Given the description of an element on the screen output the (x, y) to click on. 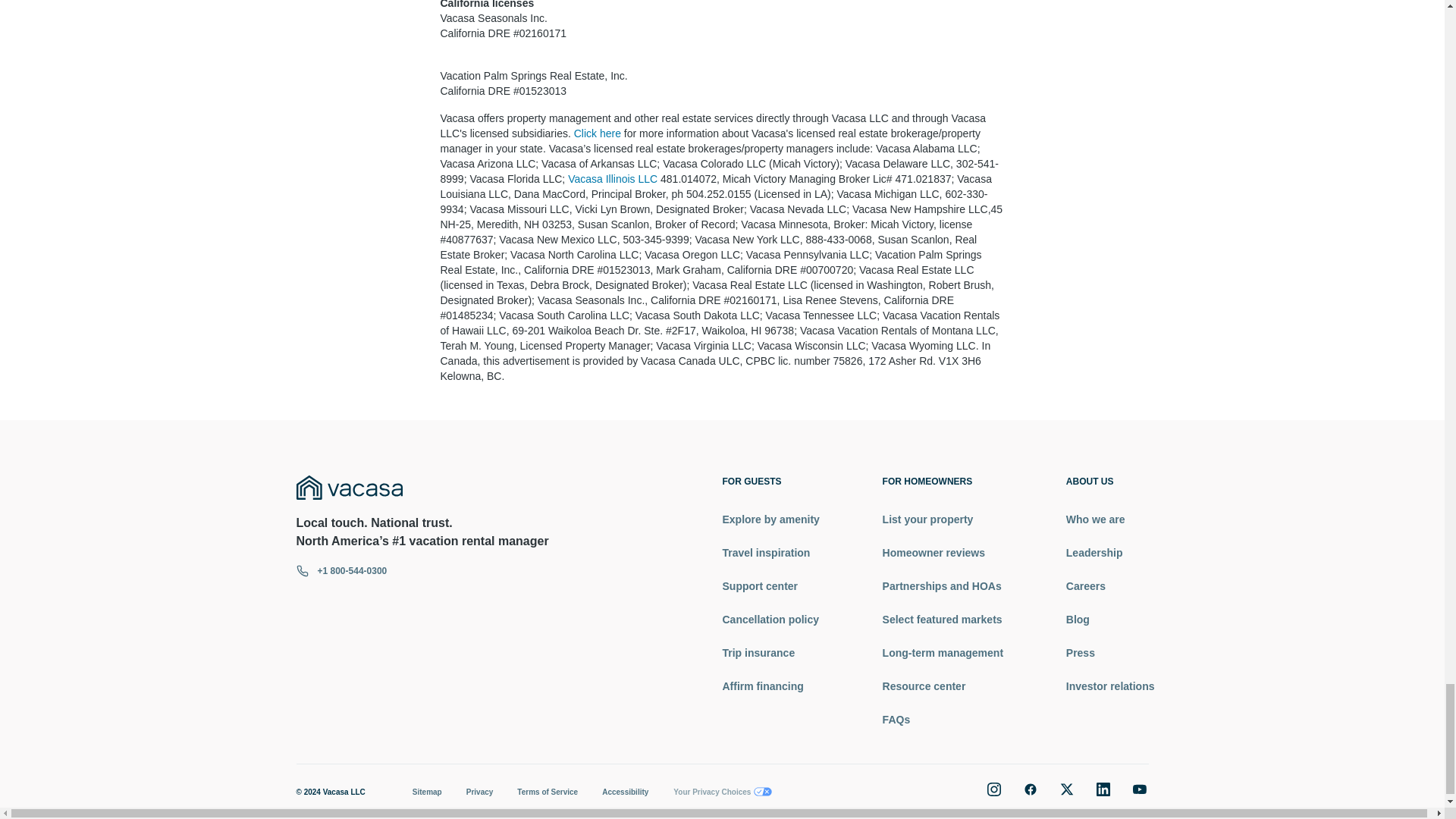
Partnerships and HOAs (942, 585)
Travel inspiration (770, 552)
Trip insurance (770, 652)
List your property (942, 519)
Cancellation policy (770, 619)
Select featured markets (942, 619)
Support center (770, 585)
Explore by amenity (770, 519)
Vacasa Illinois LLC (612, 178)
Homeowner reviews (942, 552)
Affirm financing (770, 685)
Click here (597, 133)
Long-term management (942, 652)
